Given the description of an element on the screen output the (x, y) to click on. 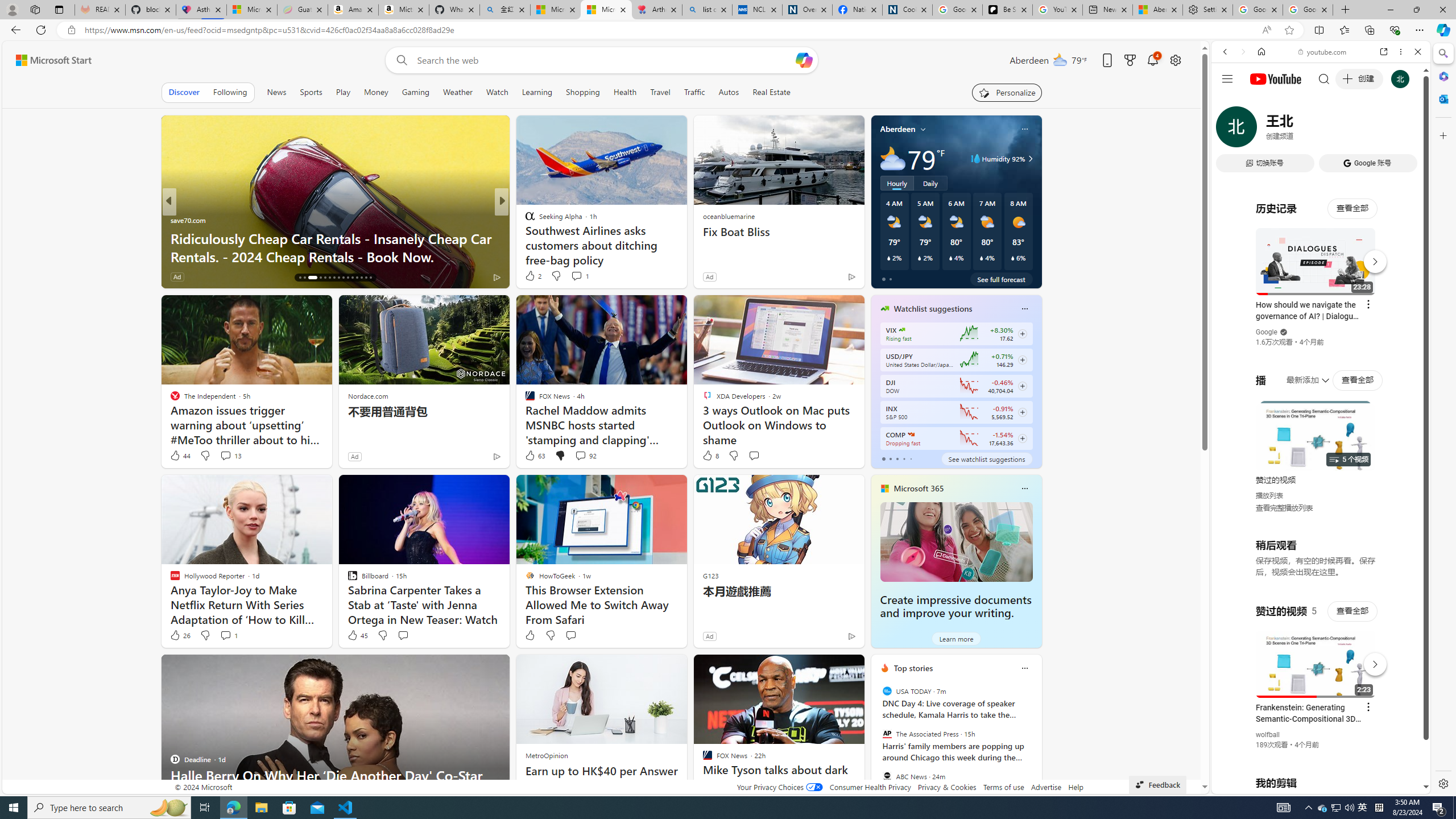
Traffic (694, 92)
Ad (708, 636)
AutomationID: tab-18 (309, 277)
IMAGES (1262, 130)
View comments 7 Comment (583, 276)
The Conversation (524, 238)
Consumer Health Privacy (870, 786)
AutomationID: tab-19 (317, 277)
45 Like (357, 634)
Allrecipes (524, 219)
Play (342, 92)
